Given the description of an element on the screen output the (x, y) to click on. 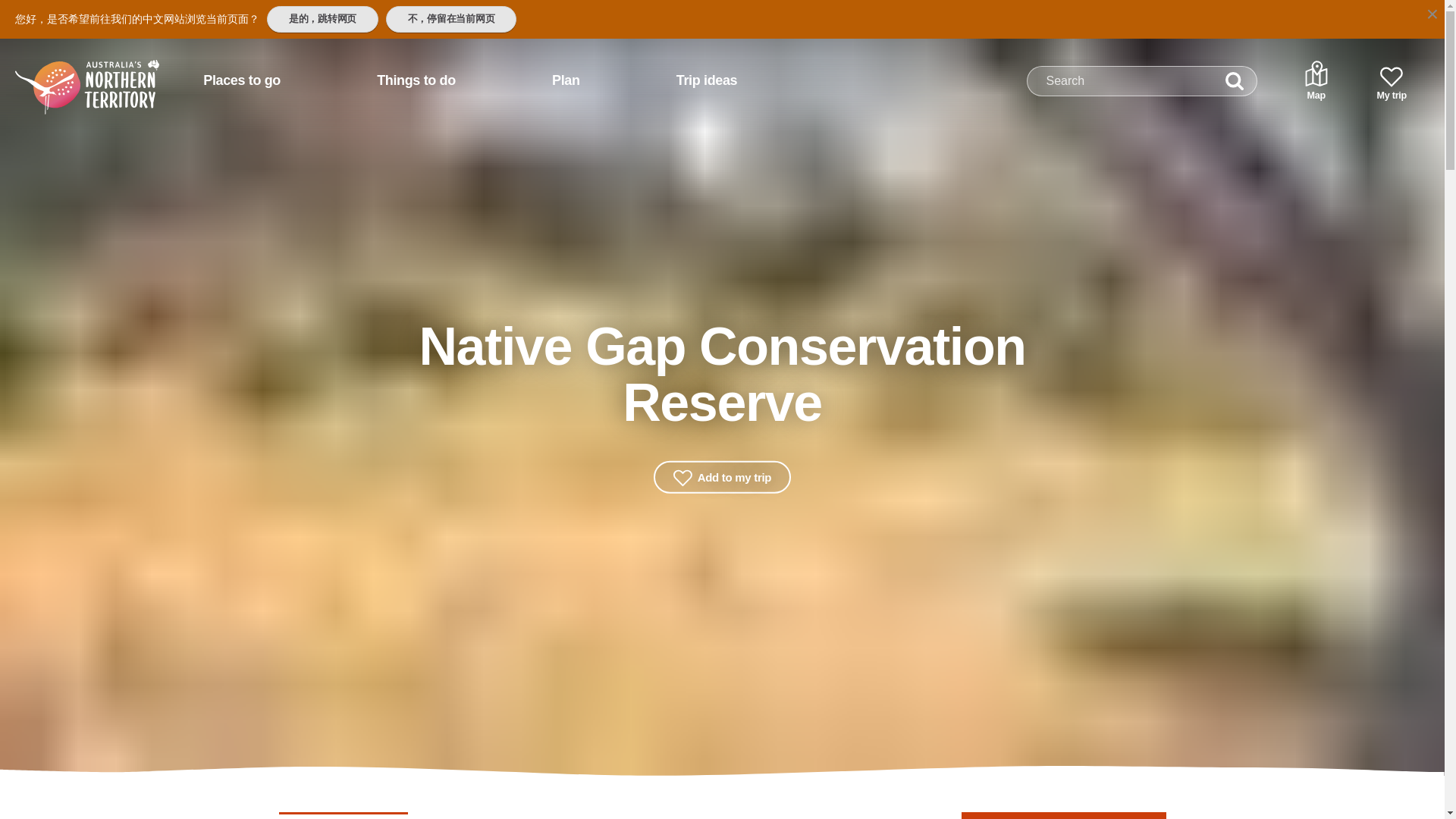
Things to do (416, 80)
Home (67, 73)
Search (1234, 81)
Places to go (241, 80)
